Given the description of an element on the screen output the (x, y) to click on. 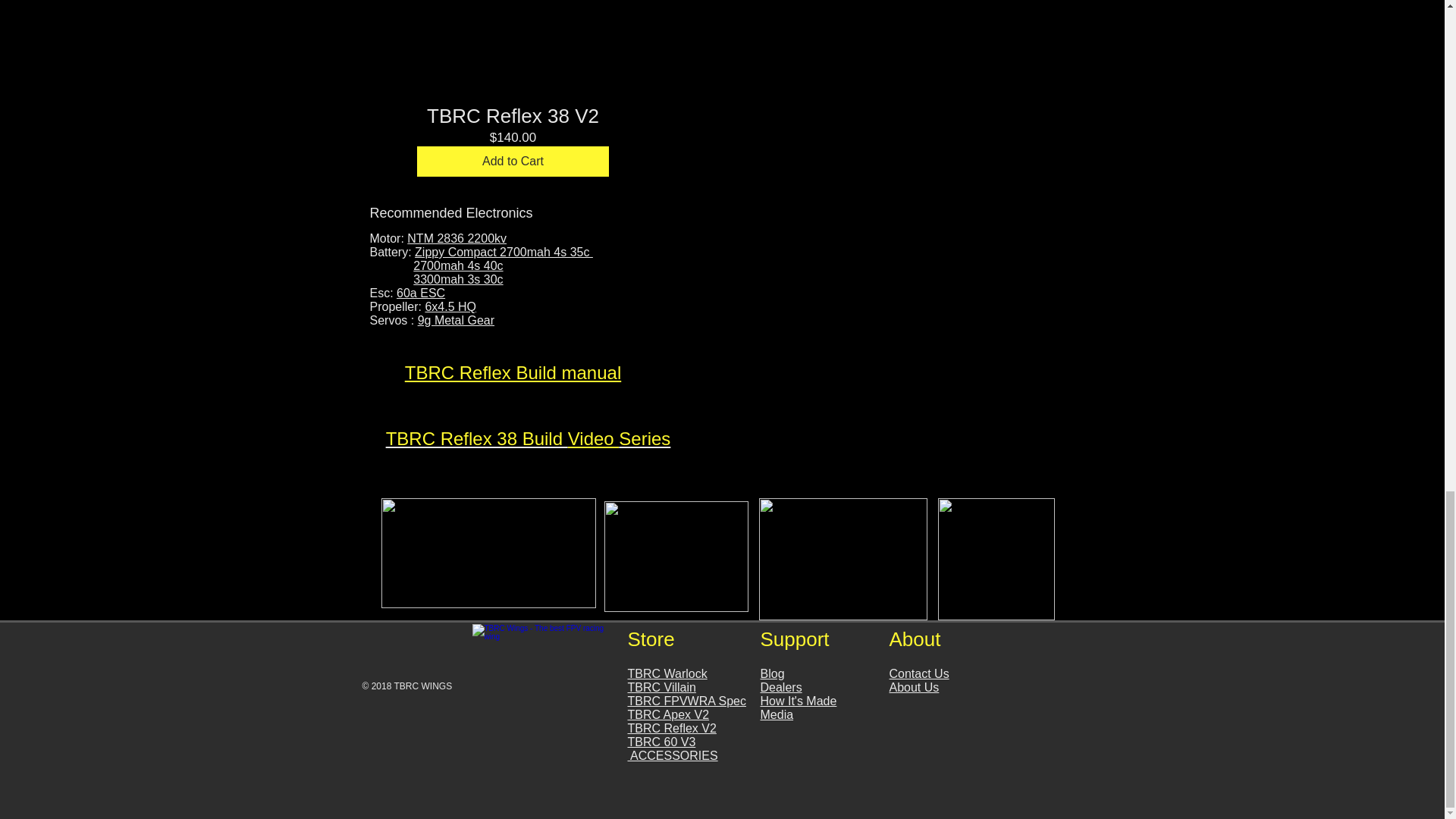
Series (643, 438)
2700mah 4s 40c (457, 265)
Included linkage stoppers (995, 558)
Included Contol Horns (487, 552)
TBRC Warlock (667, 673)
TBRC Reflex 38 Build (476, 438)
TBRC Villain (661, 686)
Included, optional nose skids (842, 558)
Video  (593, 438)
3300mah 3s 30c (457, 278)
Add to Cart (512, 161)
9g Metal Gear (456, 319)
External YouTube (903, 364)
Zippy Compact 2700mah 4s 35c  (503, 251)
External YouTube (903, 109)
